Given the description of an element on the screen output the (x, y) to click on. 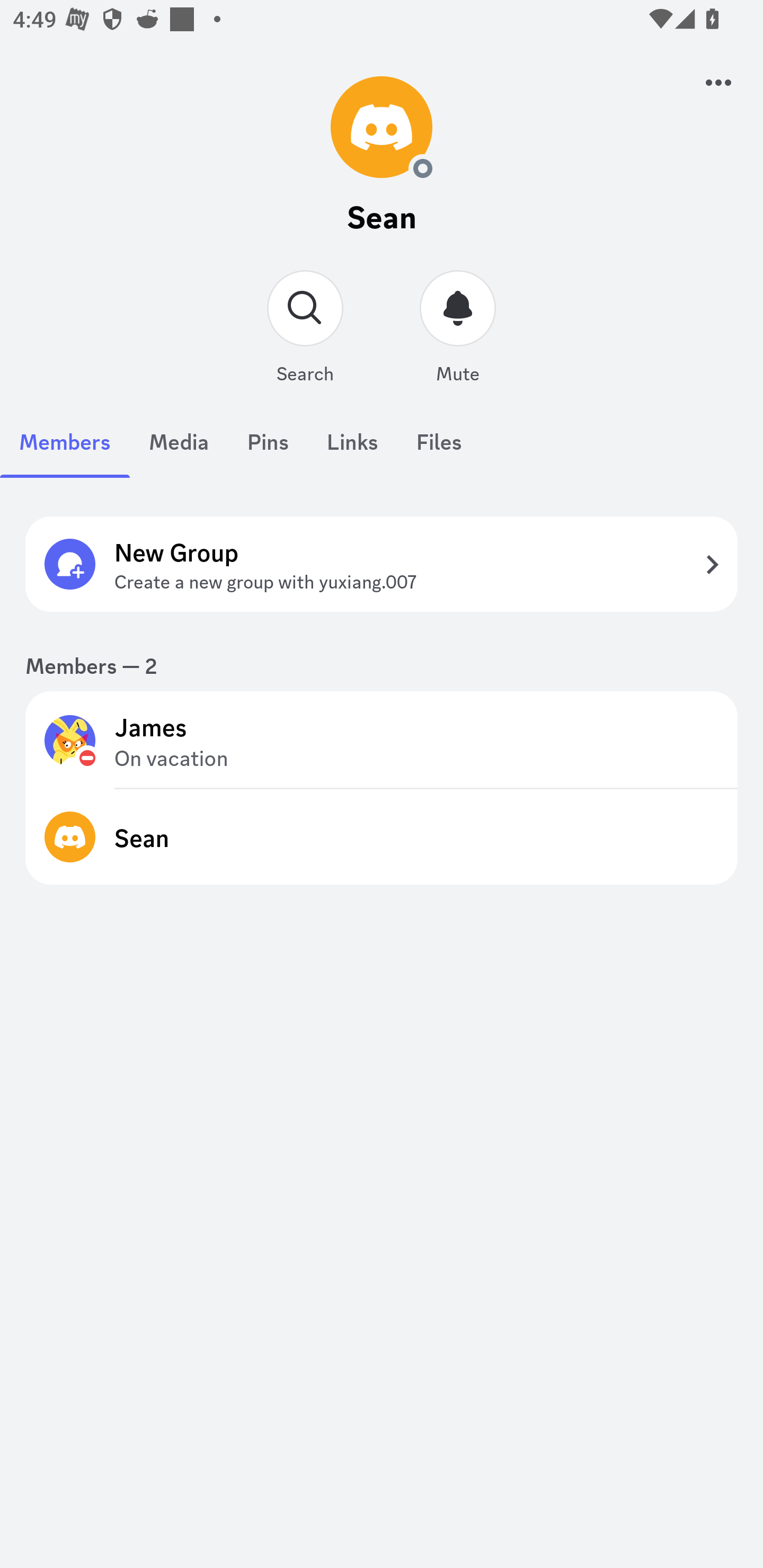
More (718, 82)
Search (305, 329)
Mute (457, 329)
Members (64, 451)
Media (178, 451)
Pins (267, 451)
Links (352, 451)
Files (439, 451)
James, On vacation James On vacation (381, 739)
Sean (381, 836)
